Given the description of an element on the screen output the (x, y) to click on. 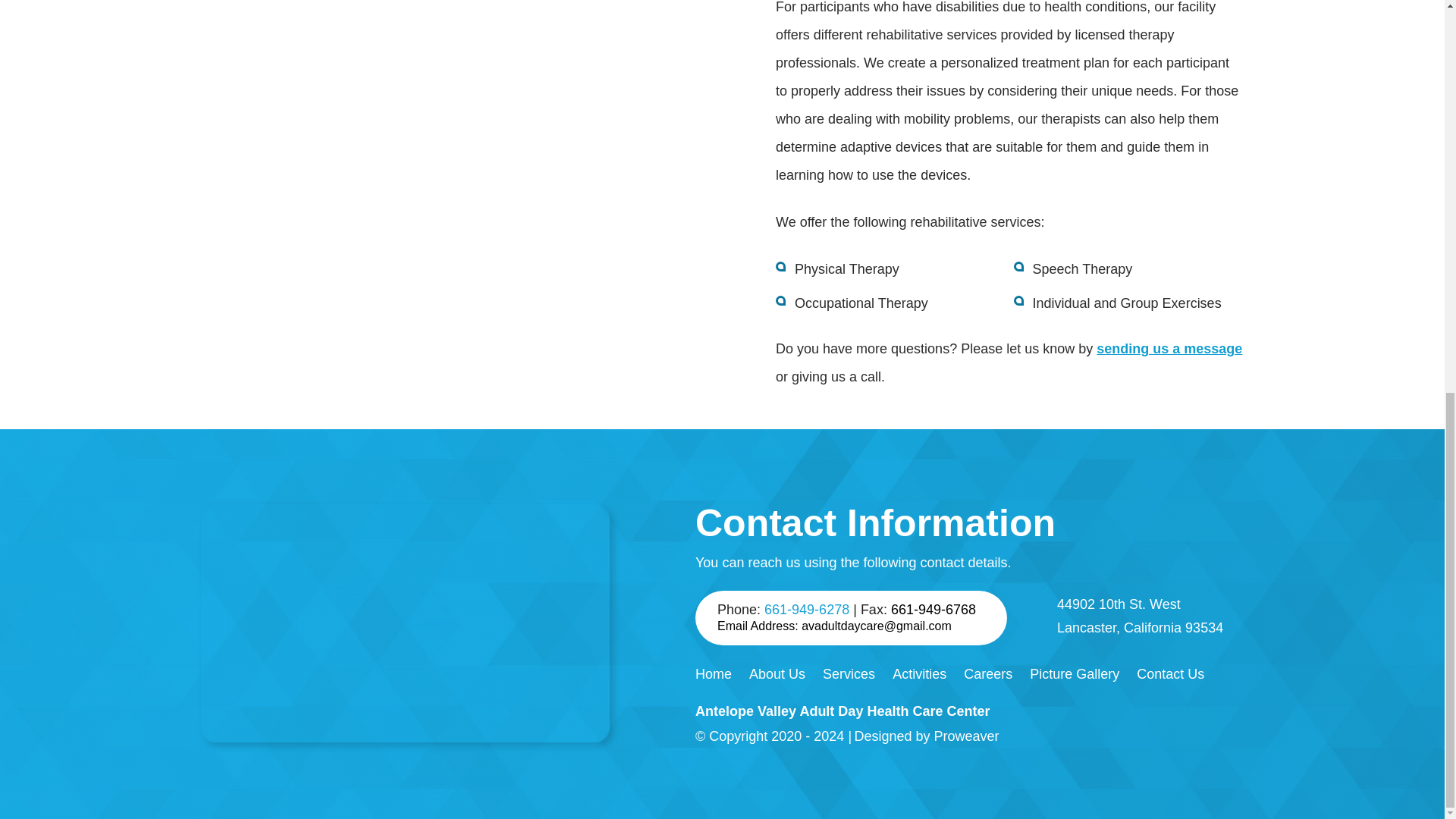
Contact Us (1170, 673)
Proweaver (966, 735)
Activities (919, 673)
Picture Gallery (1074, 673)
sending us a message (1168, 348)
Careers (987, 673)
Services (848, 673)
About Us (777, 673)
Home (713, 673)
